Given the description of an element on the screen output the (x, y) to click on. 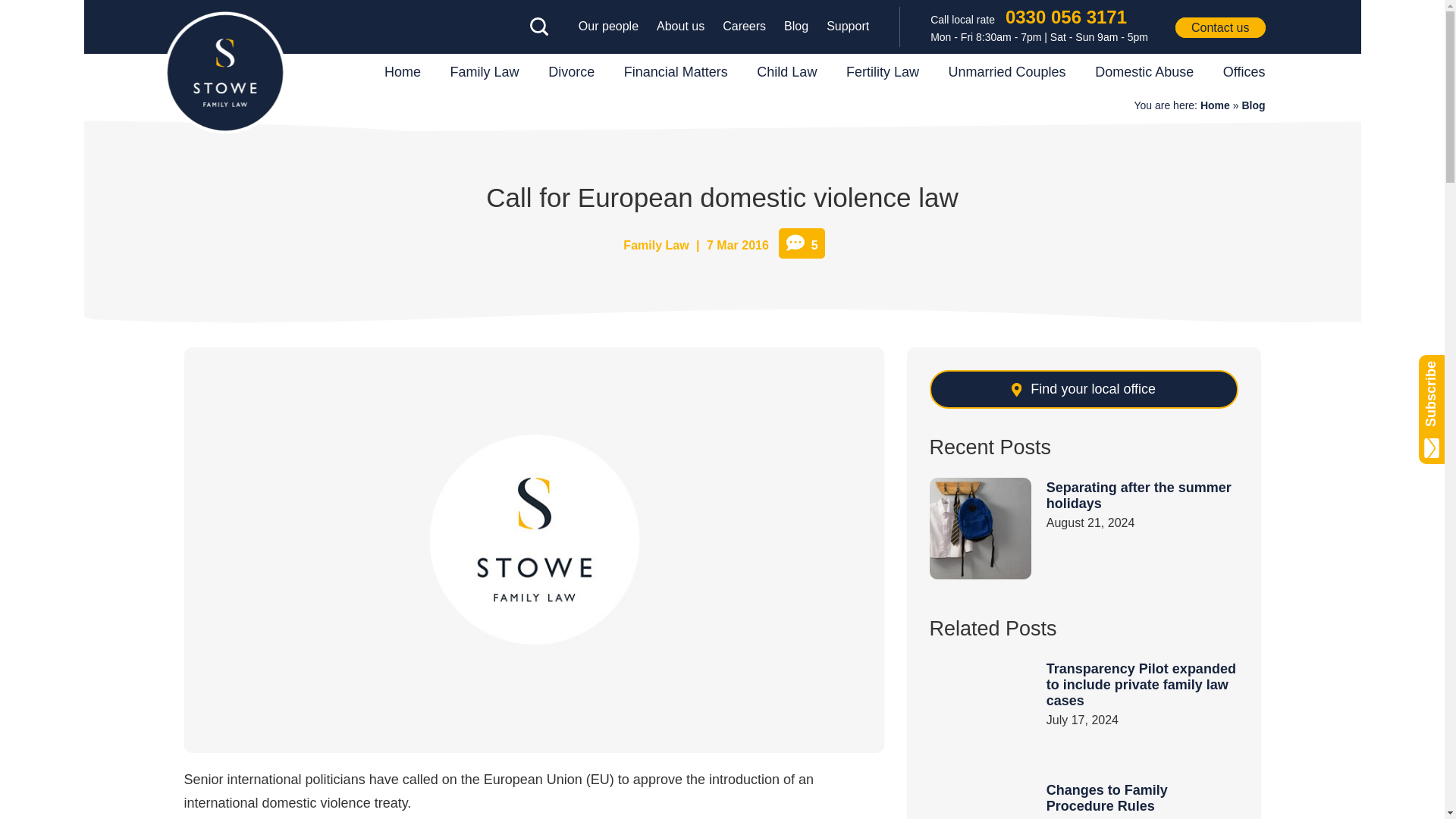
5 (801, 243)
stowe-family-law-logo (224, 72)
Home (1214, 105)
